Given the description of an element on the screen output the (x, y) to click on. 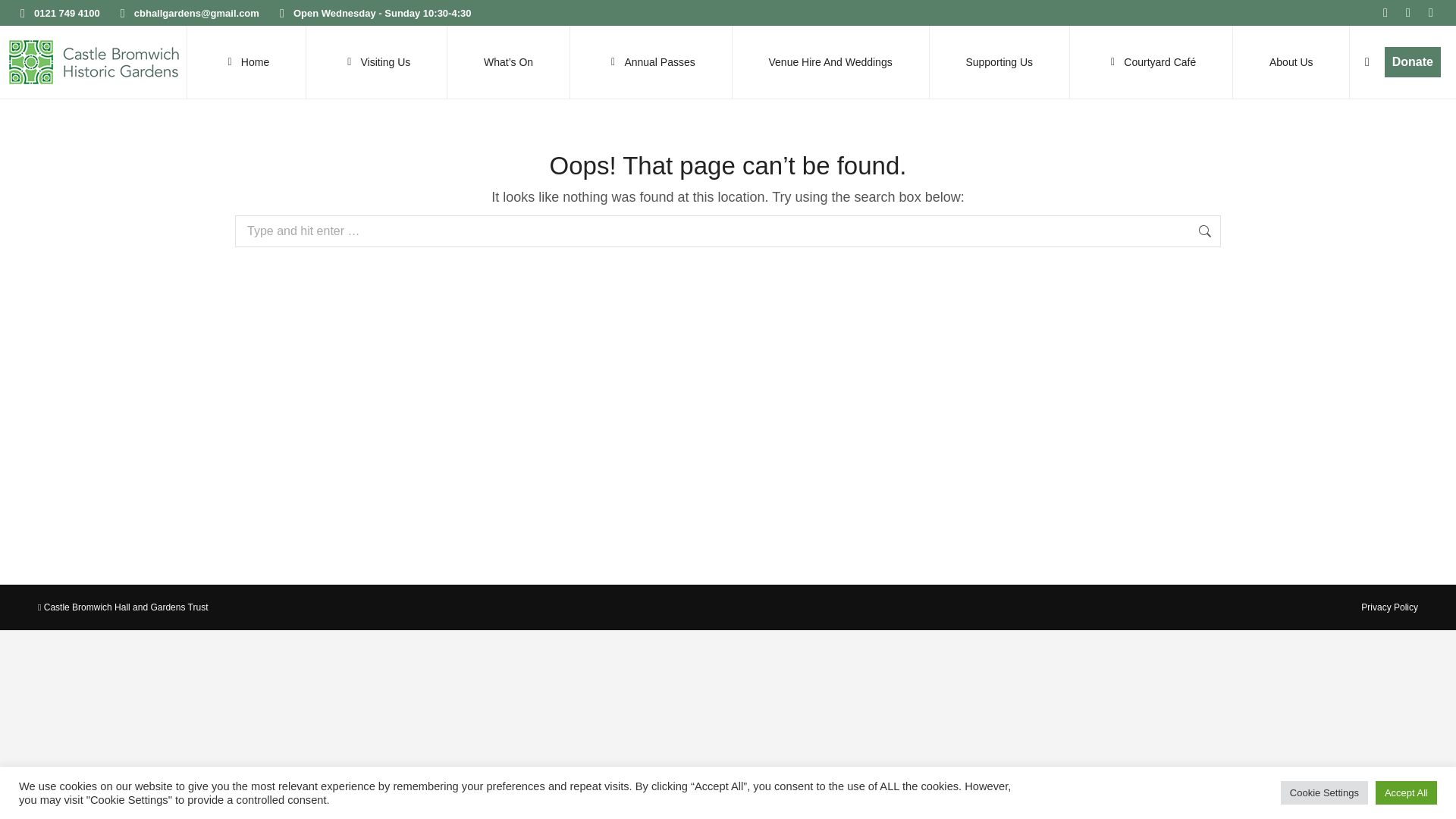
Go! (1246, 232)
Go! (24, 17)
Annual Passes (651, 61)
X page opens in new window (1407, 12)
Facebook page opens in new window (1384, 12)
Venue Hire And Weddings (830, 61)
About Us (1291, 61)
Facebook page opens in new window (1384, 12)
Home (245, 61)
Supporting Us (998, 61)
Donate (1412, 61)
Instagram page opens in new window (1431, 12)
Instagram page opens in new window (1431, 12)
Go! (1246, 232)
Visiting Us (375, 61)
